Given the description of an element on the screen output the (x, y) to click on. 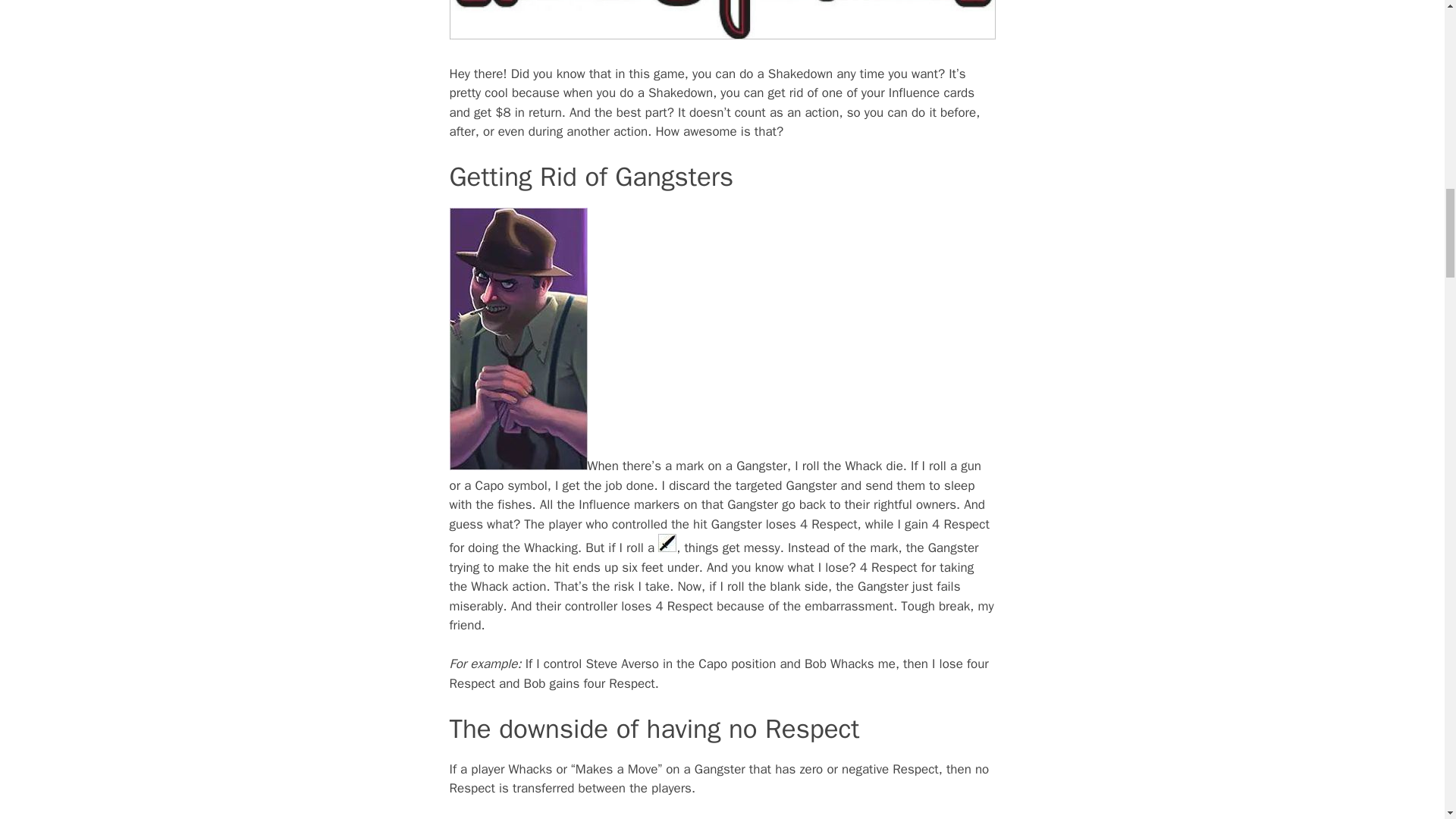
Additional Rules for Nothing Personal UltraFoodMess (667, 542)
Additional Rules for Nothing Personal UltraFoodMess (721, 19)
